Given the description of an element on the screen output the (x, y) to click on. 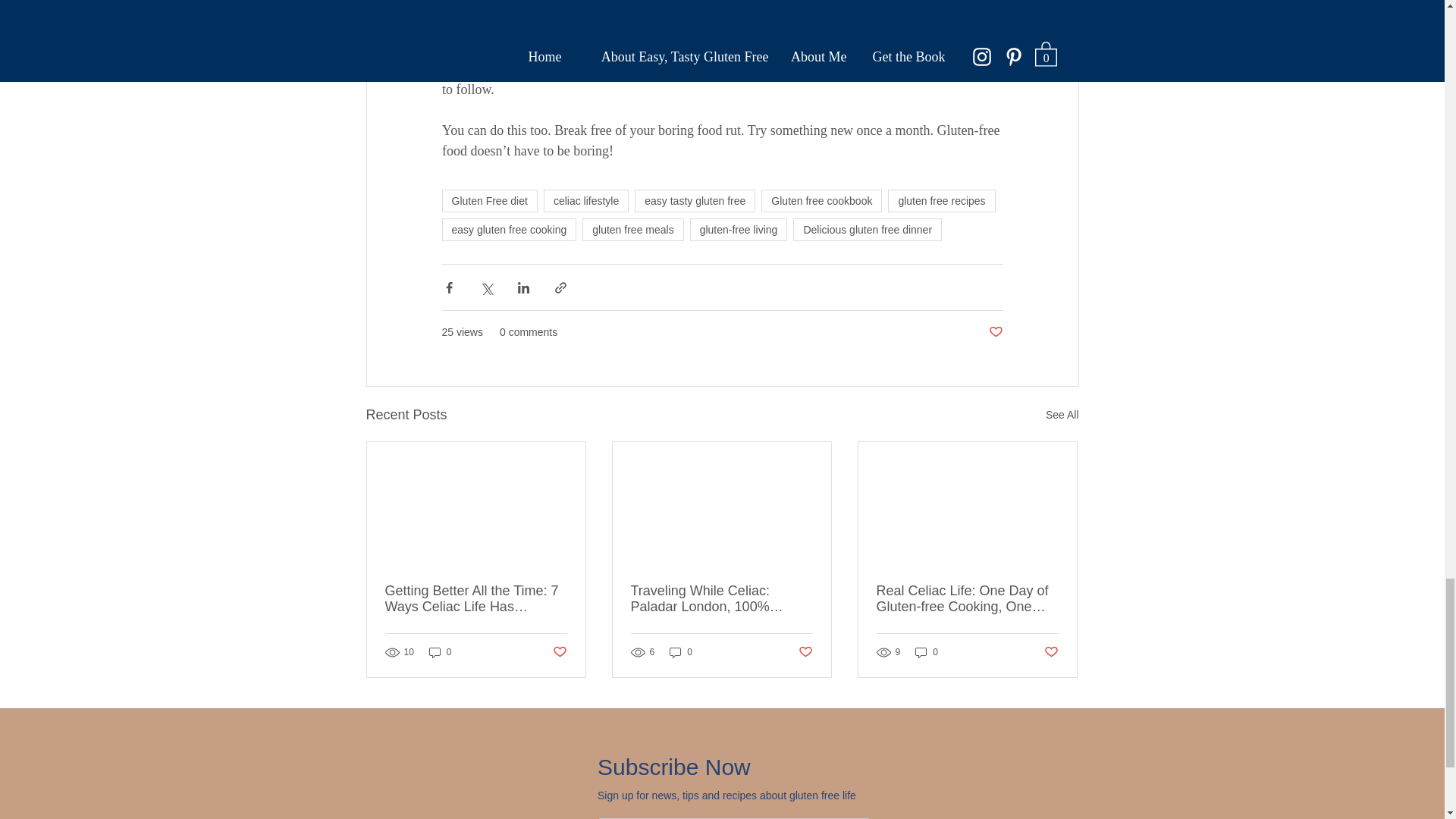
Gluten Free diet (489, 200)
gluten free recipes (941, 200)
Gluten free cookbook (821, 200)
easy gluten free cooking (508, 229)
Embedded Content (732, 776)
gluten-free living (738, 229)
celiac lifestyle (585, 200)
Delicious gluten free dinner (867, 229)
gluten free meals (632, 229)
easy tasty gluten free (694, 200)
